Given the description of an element on the screen output the (x, y) to click on. 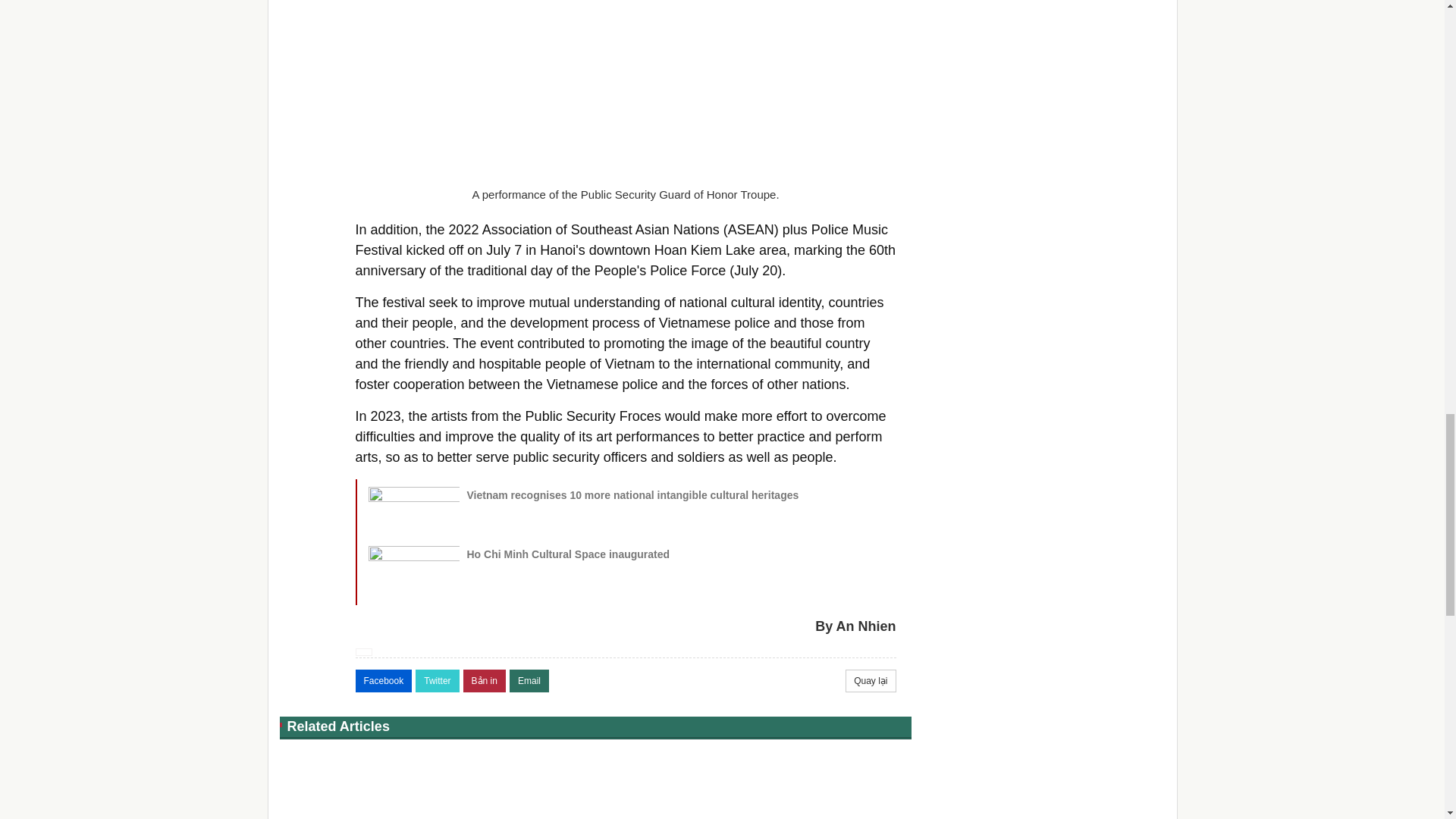
Email (528, 680)
Facebook (383, 680)
Ho Chi Minh Cultural Space inaugurated (568, 553)
Twitter (436, 680)
